Given the description of an element on the screen output the (x, y) to click on. 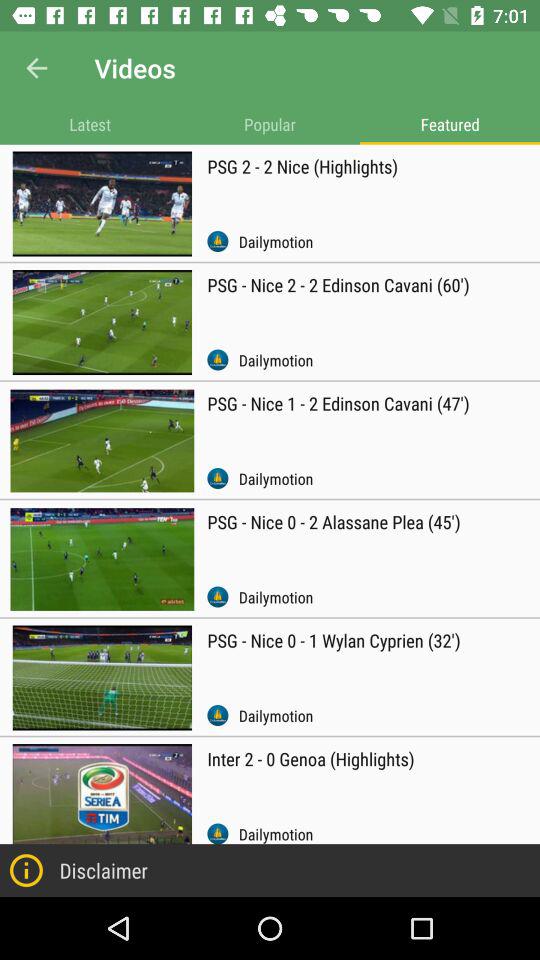
launch the app to the right of the latest icon (270, 124)
